Given the description of an element on the screen output the (x, y) to click on. 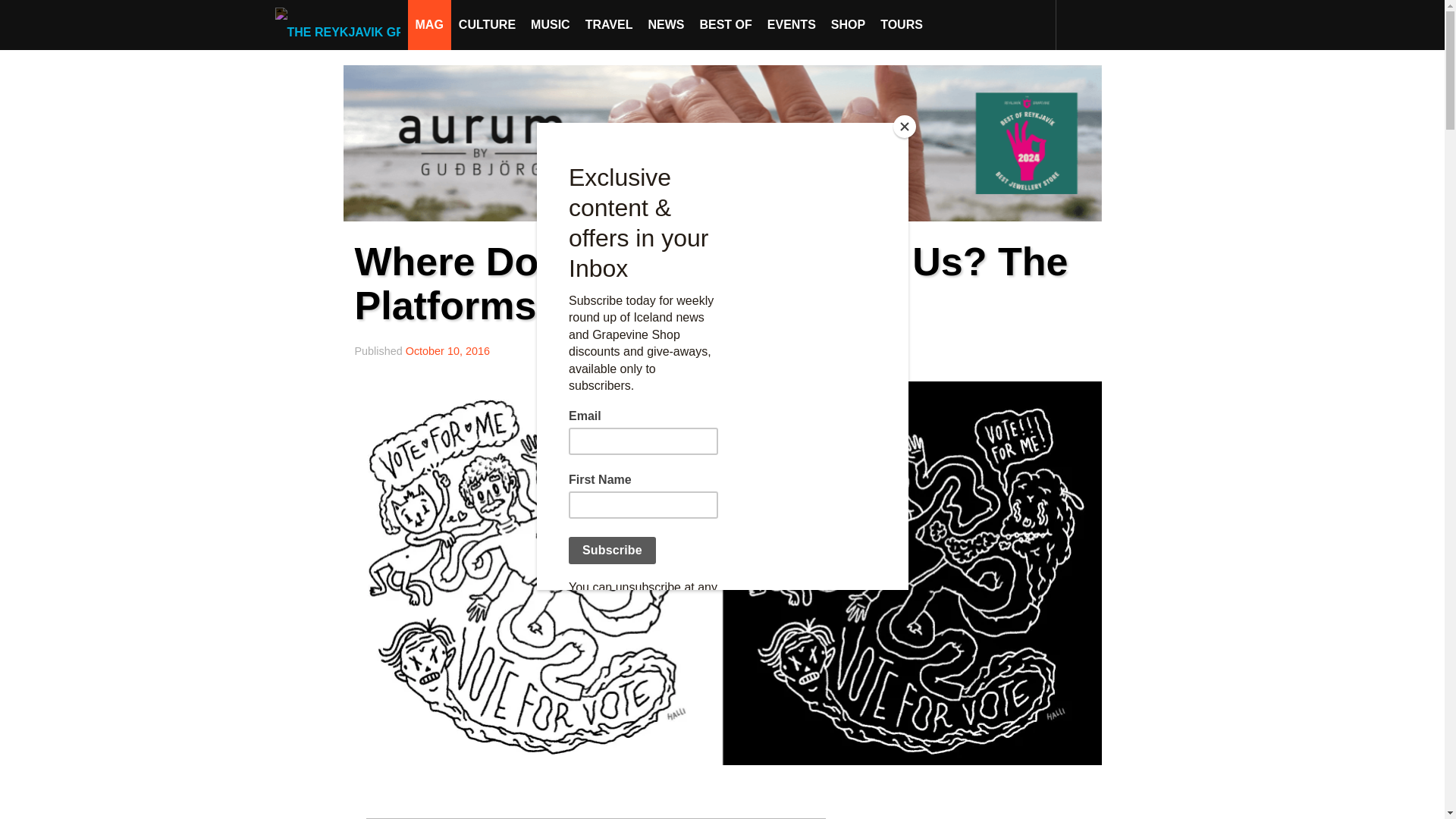
TRAVEL (609, 24)
TOURS (901, 24)
The Reykjavik Grapevine (341, 24)
BEST OF (724, 24)
NEWS (665, 24)
MUSIC (550, 24)
CULTURE (486, 24)
SHOP (848, 24)
EVENTS (792, 24)
